Given the description of an element on the screen output the (x, y) to click on. 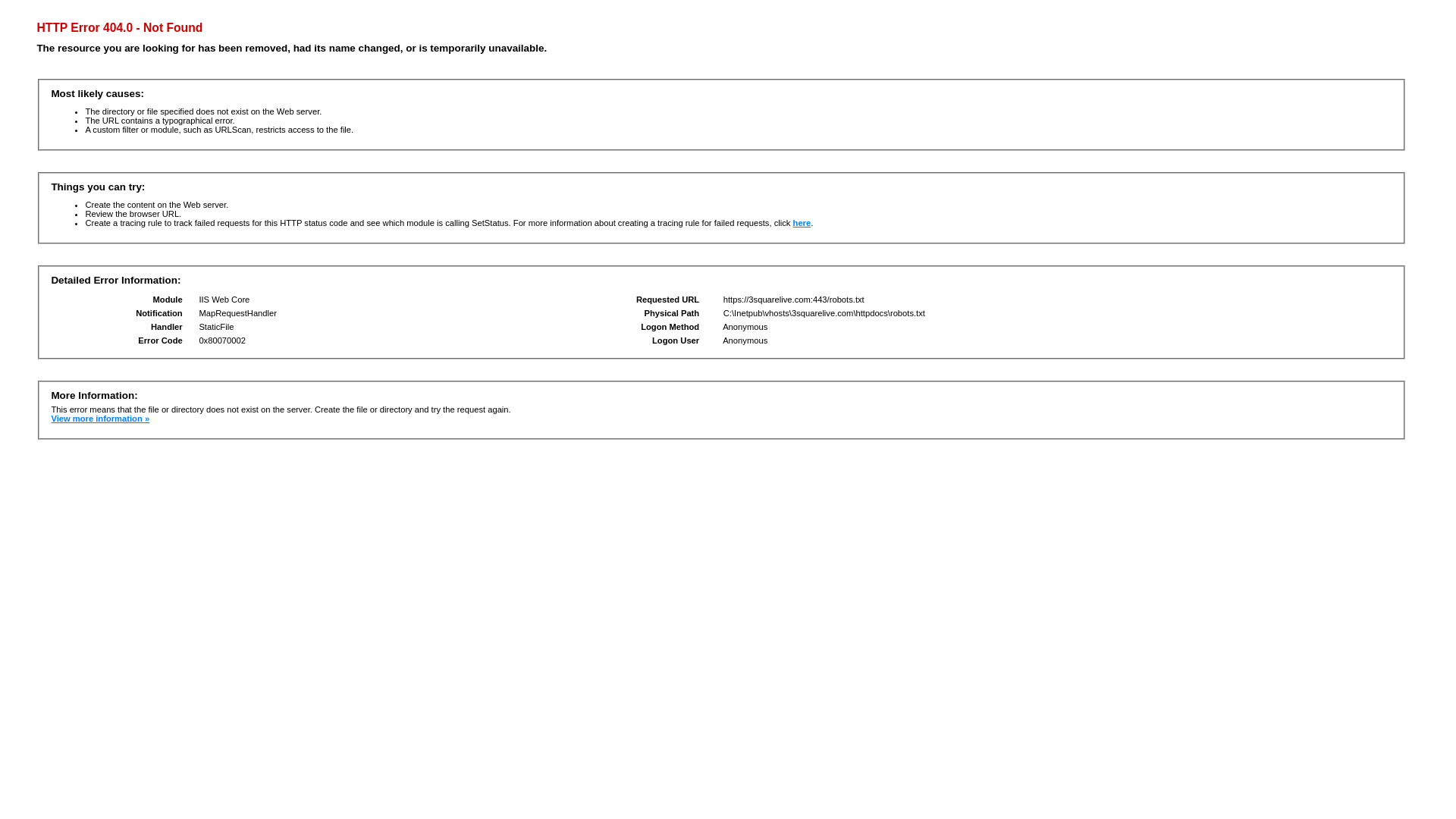
here Element type: text (802, 222)
